Given the description of an element on the screen output the (x, y) to click on. 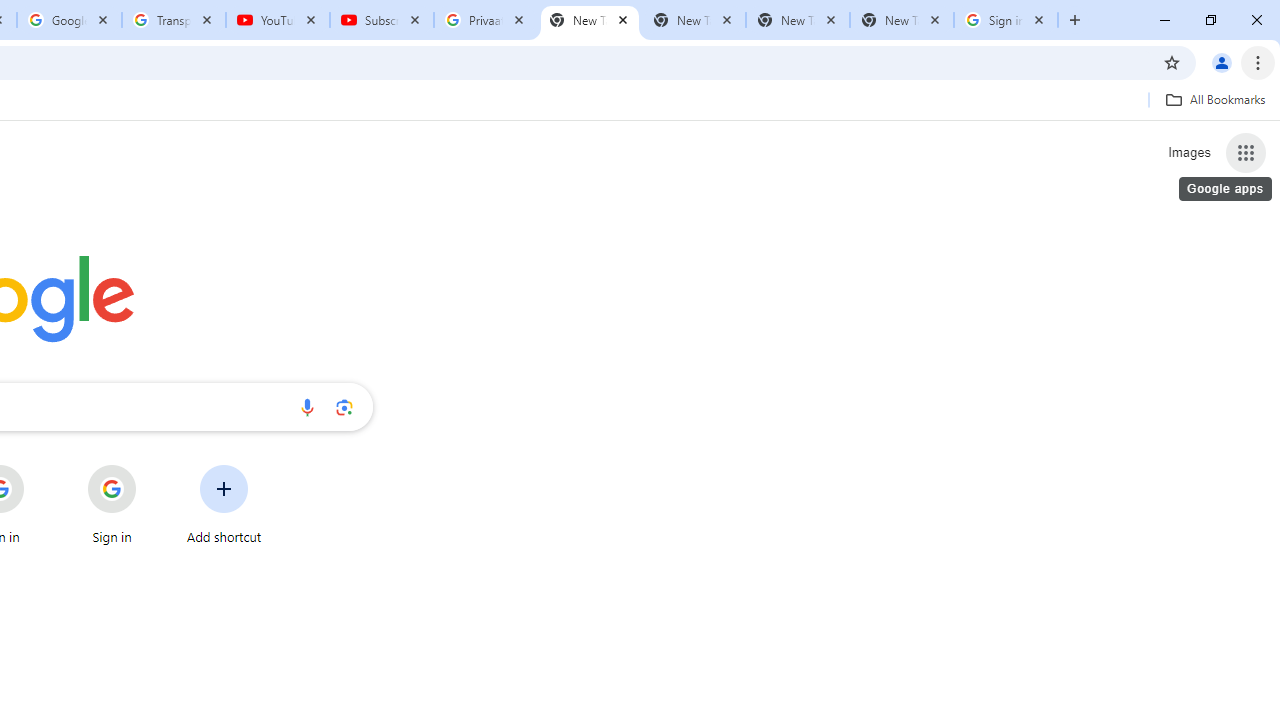
YouTube (278, 20)
Subscriptions - YouTube (381, 20)
Sign in - Google Accounts (1005, 20)
